Given the description of an element on the screen output the (x, y) to click on. 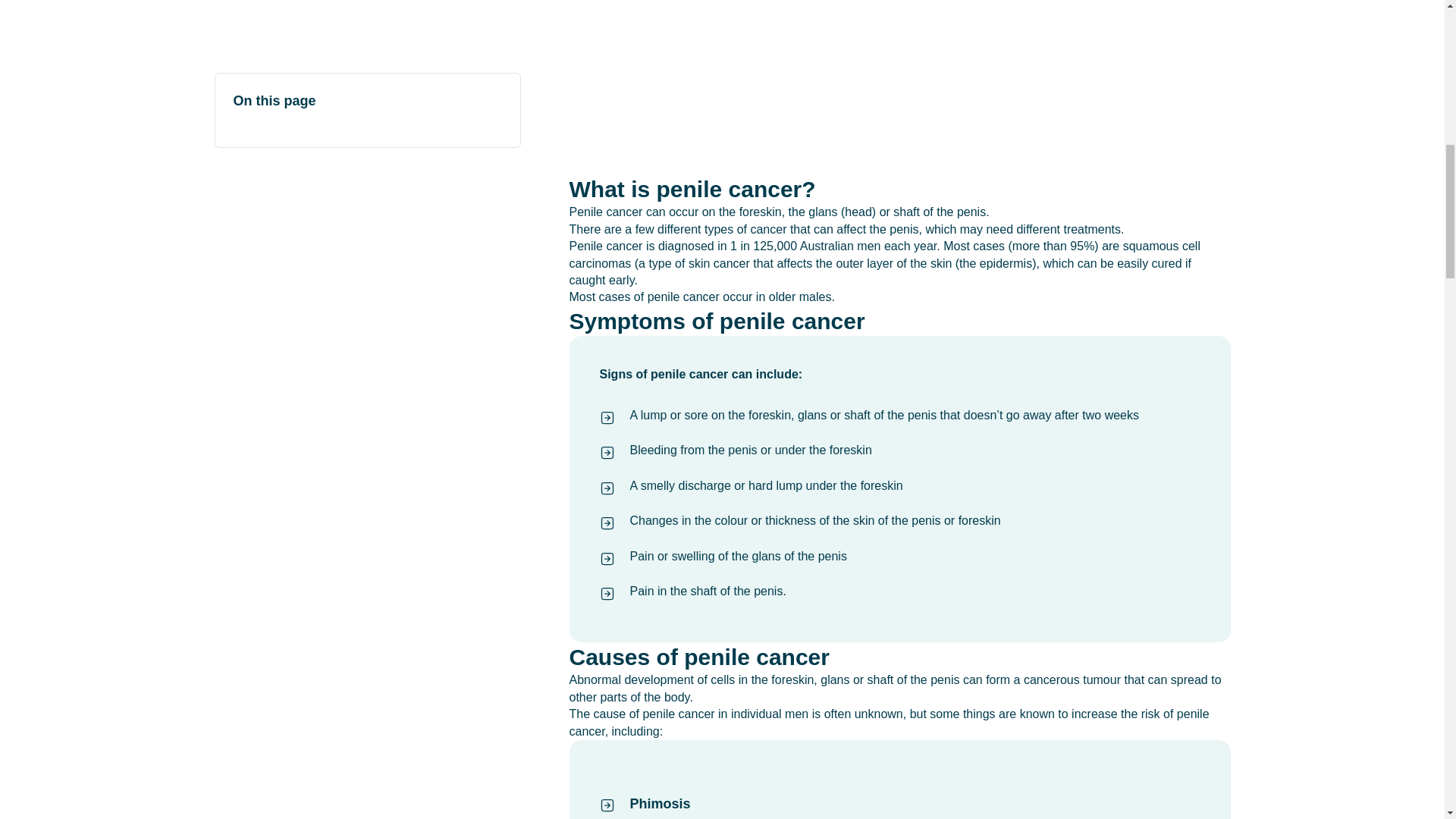
YouTube video player (899, 87)
